Given the description of an element on the screen output the (x, y) to click on. 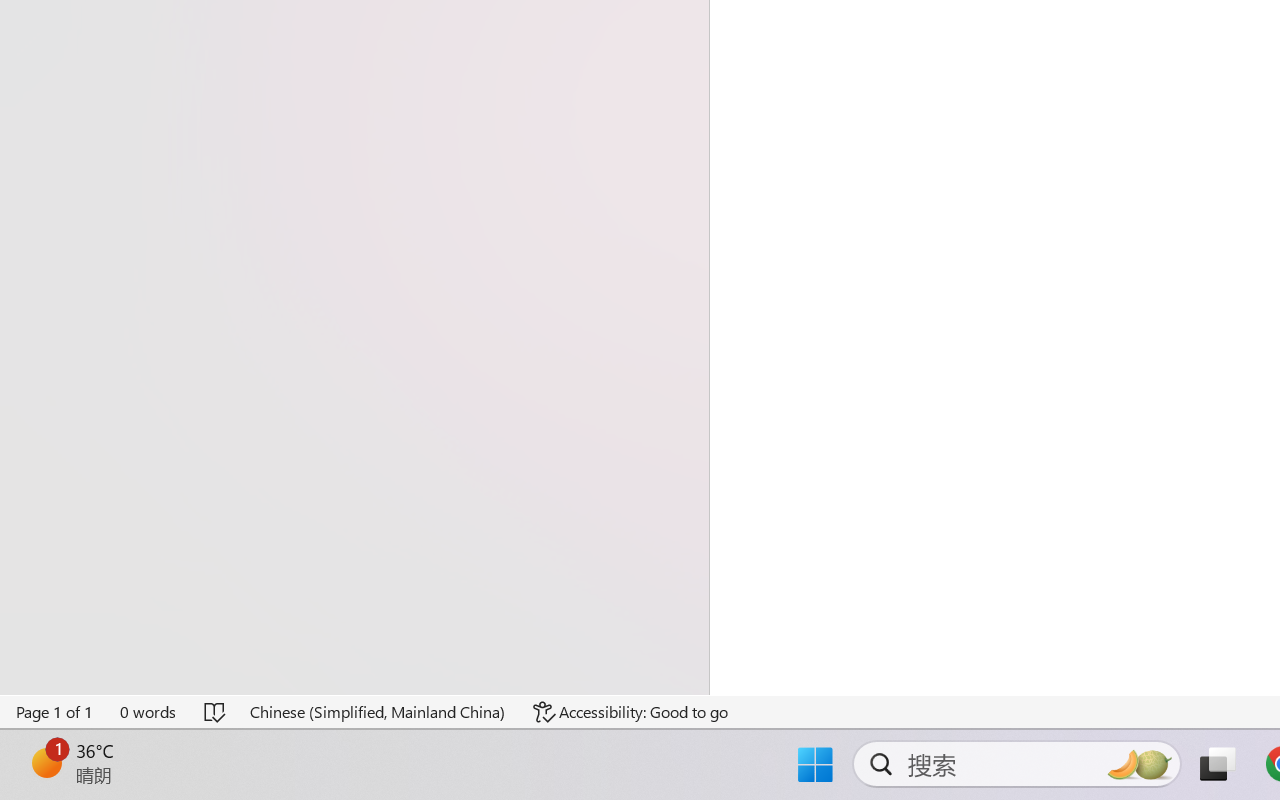
Language Chinese (Simplified, Mainland China) (378, 712)
